Given the description of an element on the screen output the (x, y) to click on. 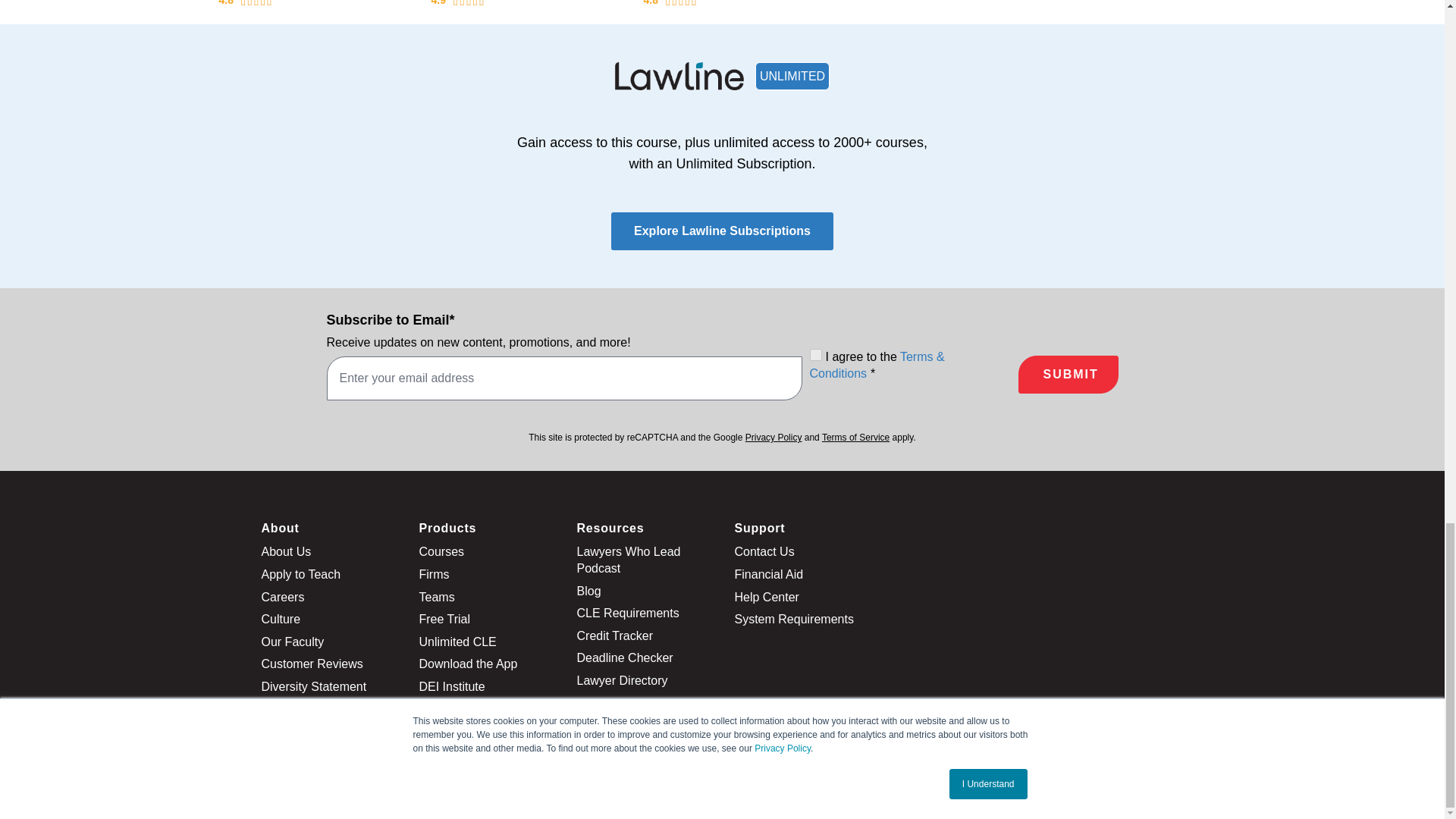
Careers (282, 596)
Culture (279, 618)
Submit (1067, 374)
Submit (1067, 374)
Terms of Service (855, 437)
About Us (285, 551)
Explore Lawline Subscriptions (721, 231)
Customer Reviews (311, 663)
Privacy Policy (773, 437)
Our Faculty (291, 641)
Apply to Teach (300, 574)
true (815, 354)
